Given the description of an element on the screen output the (x, y) to click on. 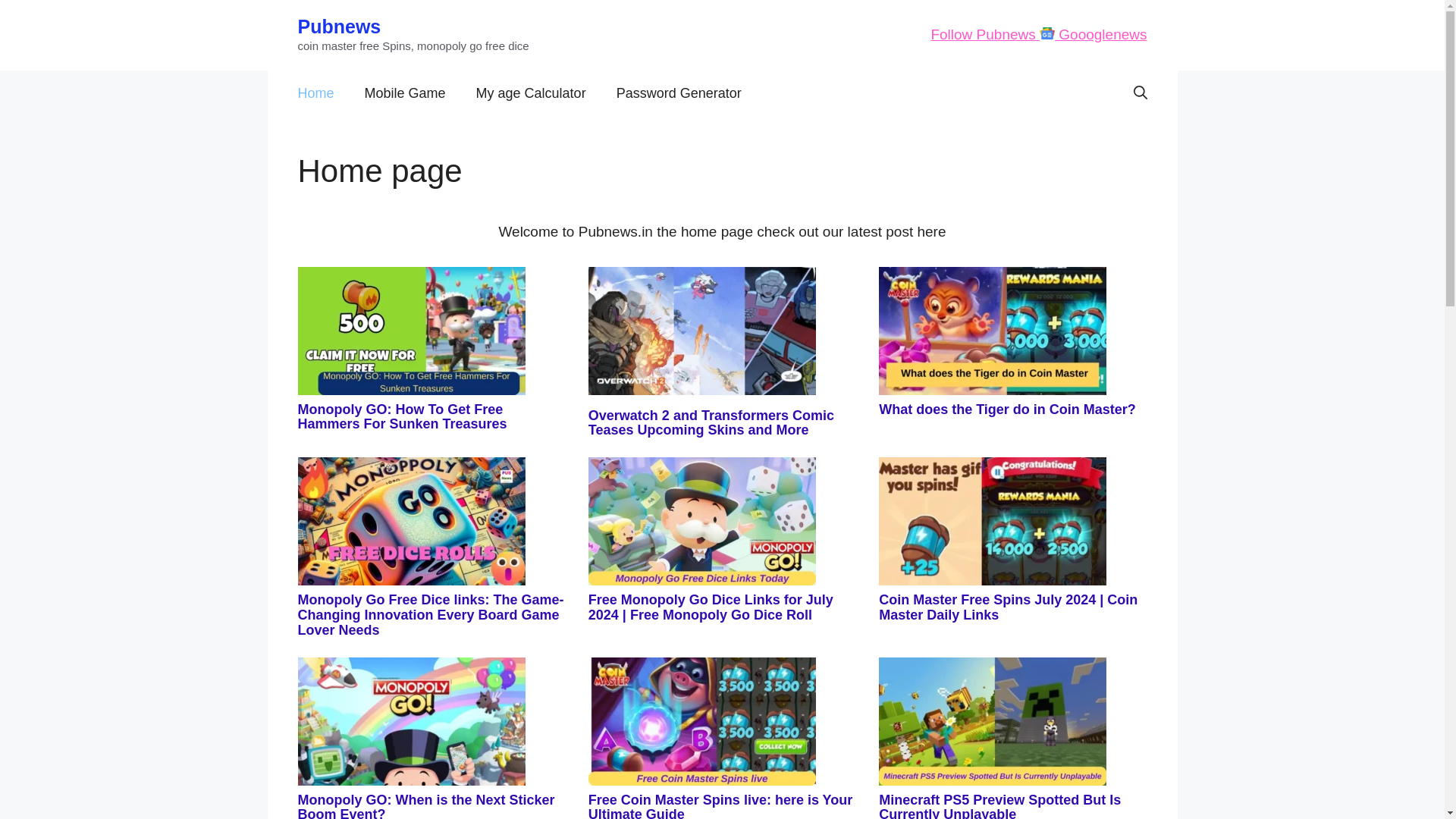
Monopoly GO: When is the Next Sticker Boom Event? (425, 805)
Home page 7 (410, 721)
Follow Pubnews Goooglenews (1038, 34)
Home page 1 (410, 330)
Home page 9 (992, 721)
Home (315, 92)
Monopoly GO: How To Get Free Hammers For Sunken Treasures (401, 417)
What does the Tiger do in Coin Master? (1007, 409)
Pubnews (338, 25)
Free Coin Master Spins live: here is Your Ultimate Guide (719, 805)
Home page 3 (992, 330)
Home page 4 (410, 521)
Mobile Game (405, 92)
Home page 6 (992, 521)
